Given the description of an element on the screen output the (x, y) to click on. 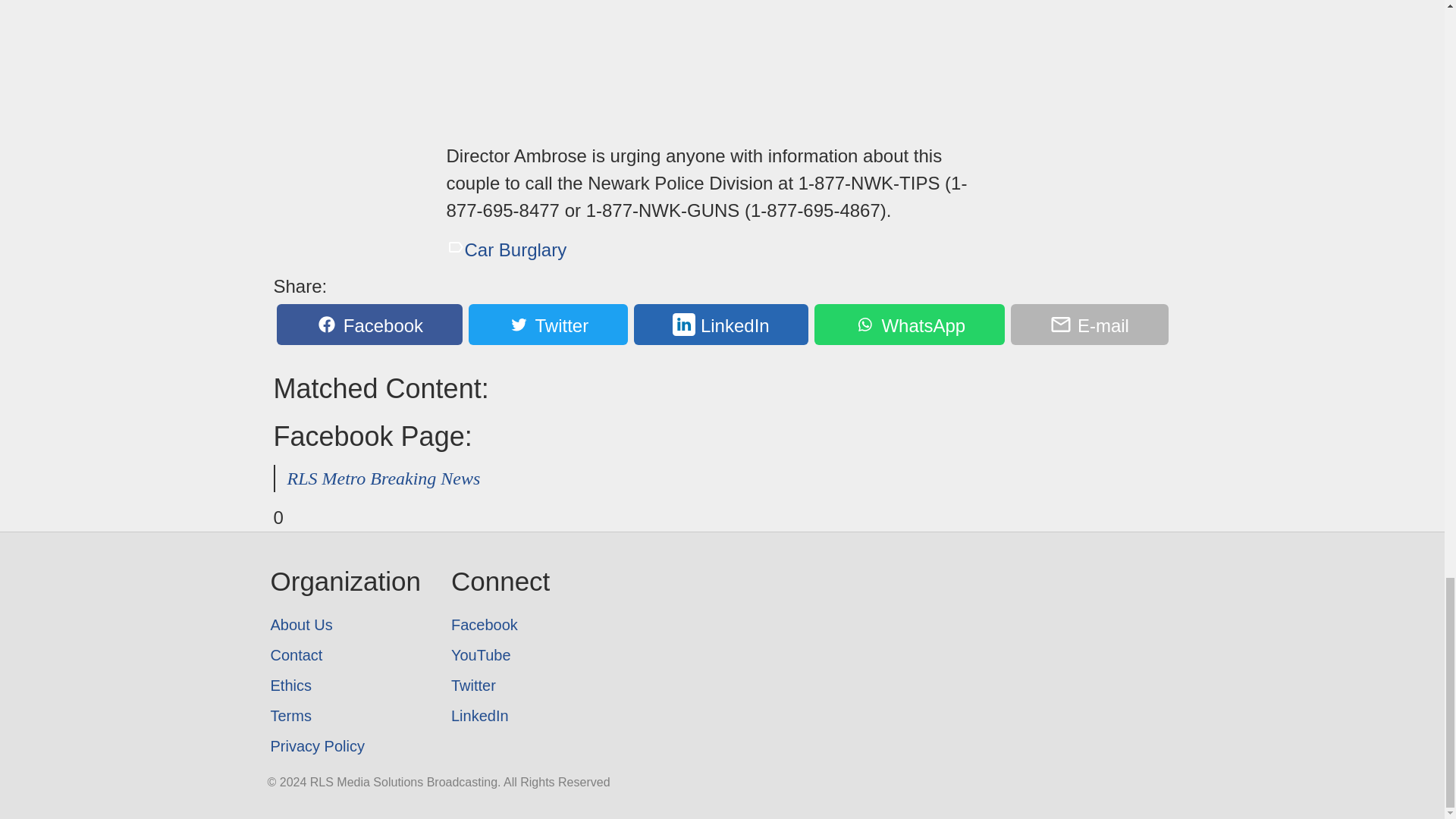
LinkedIn Business Page (500, 716)
LinkedIn (500, 716)
Facebook (500, 624)
Twitter (547, 323)
Car Burglary (505, 249)
Contact (344, 654)
About Us (344, 624)
LinkedIn (721, 323)
E-mail (1089, 323)
View our latest videos (500, 654)
